Given the description of an element on the screen output the (x, y) to click on. 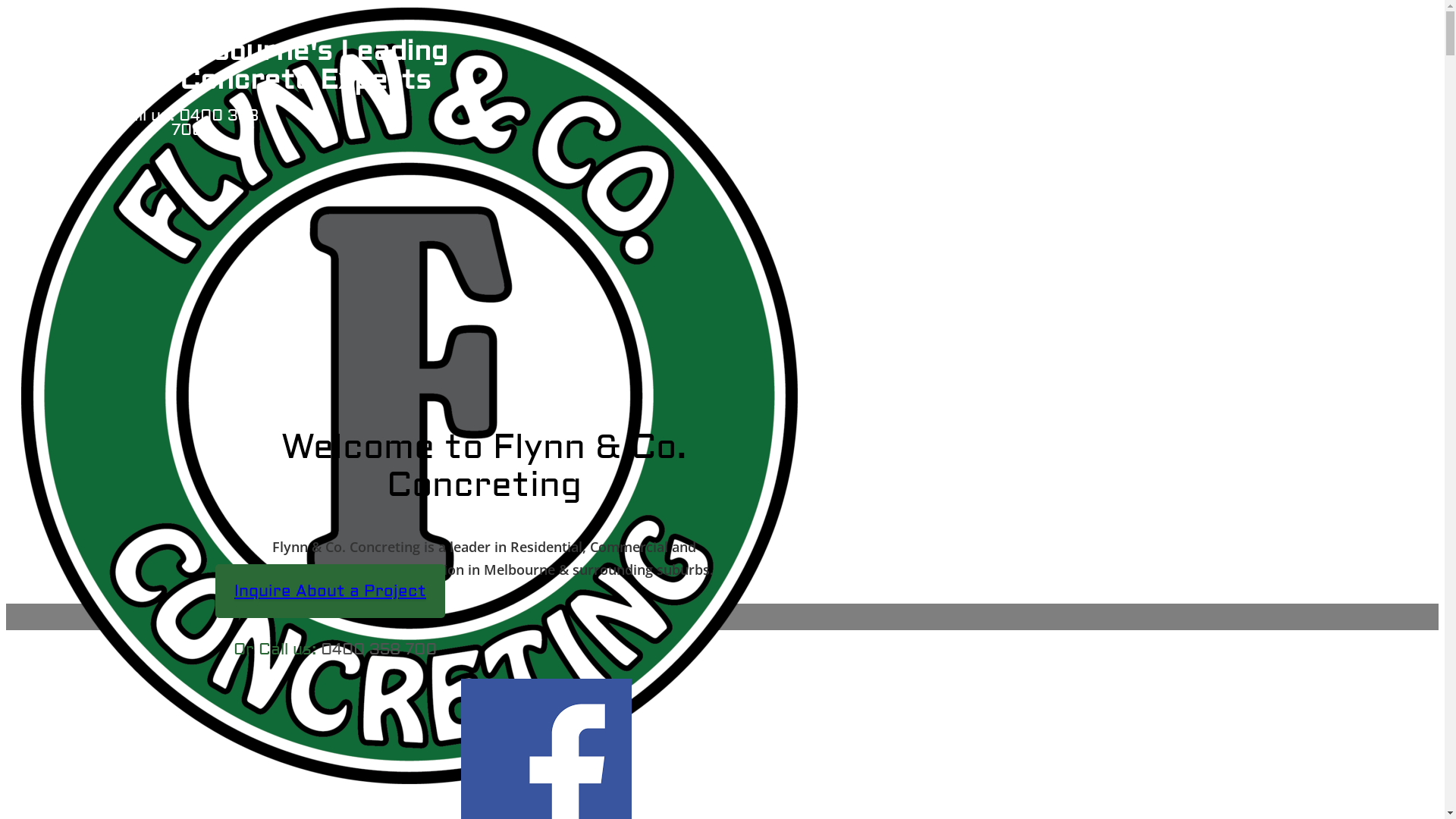
Inquire About a Project Element type: text (330, 591)
